Given the description of an element on the screen output the (x, y) to click on. 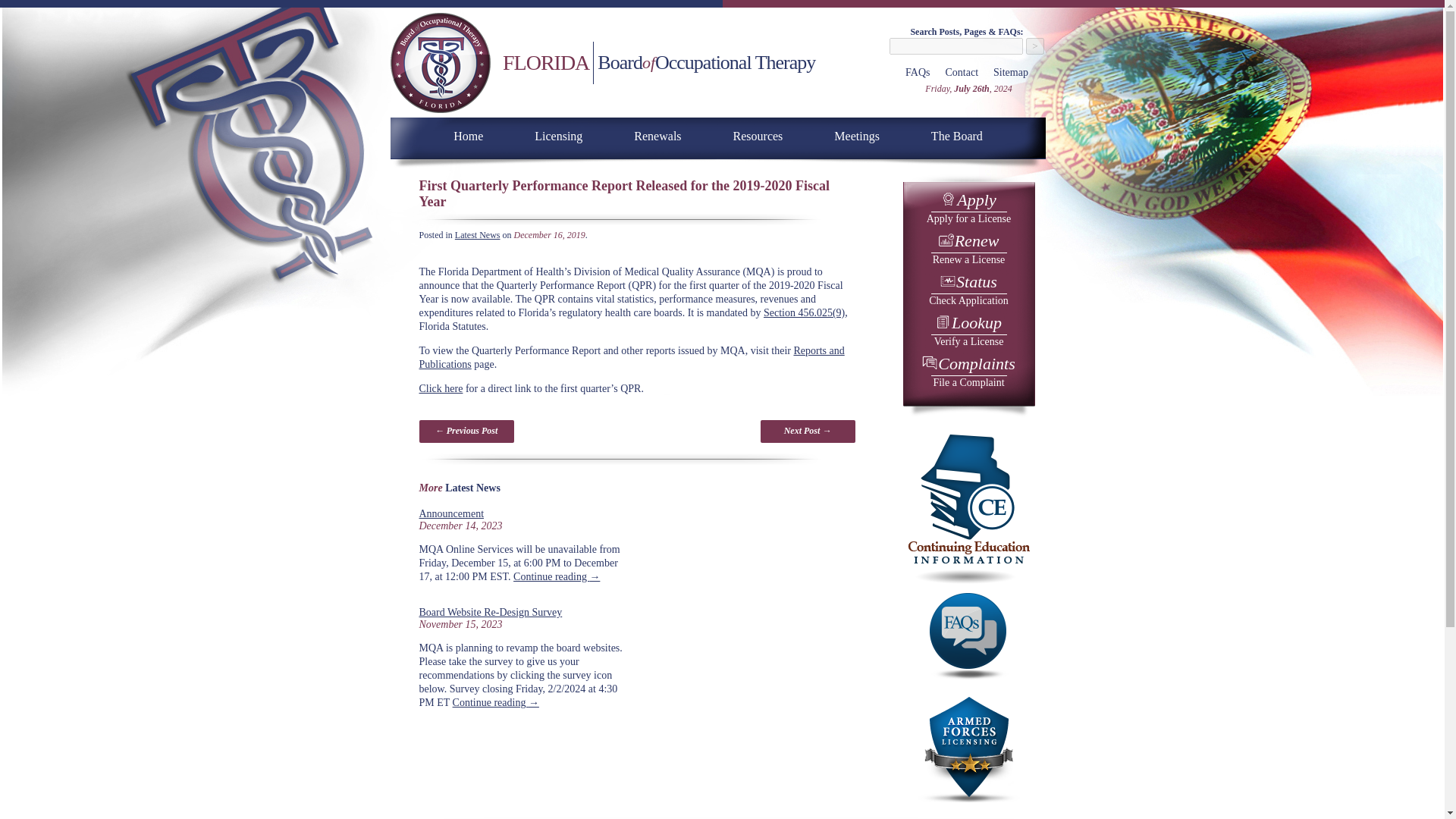
Renewal Information (657, 135)
Florida Board of Occupational Therapy (468, 135)
Renewals (657, 135)
Latest News (477, 235)
Resources (757, 135)
The Board (967, 332)
Licensing and Registration (956, 135)
Contact Information (558, 135)
FAQs (961, 71)
Links and Resources (917, 71)
Meetings (757, 135)
Apply for a License (856, 135)
Home (967, 209)
